Given the description of an element on the screen output the (x, y) to click on. 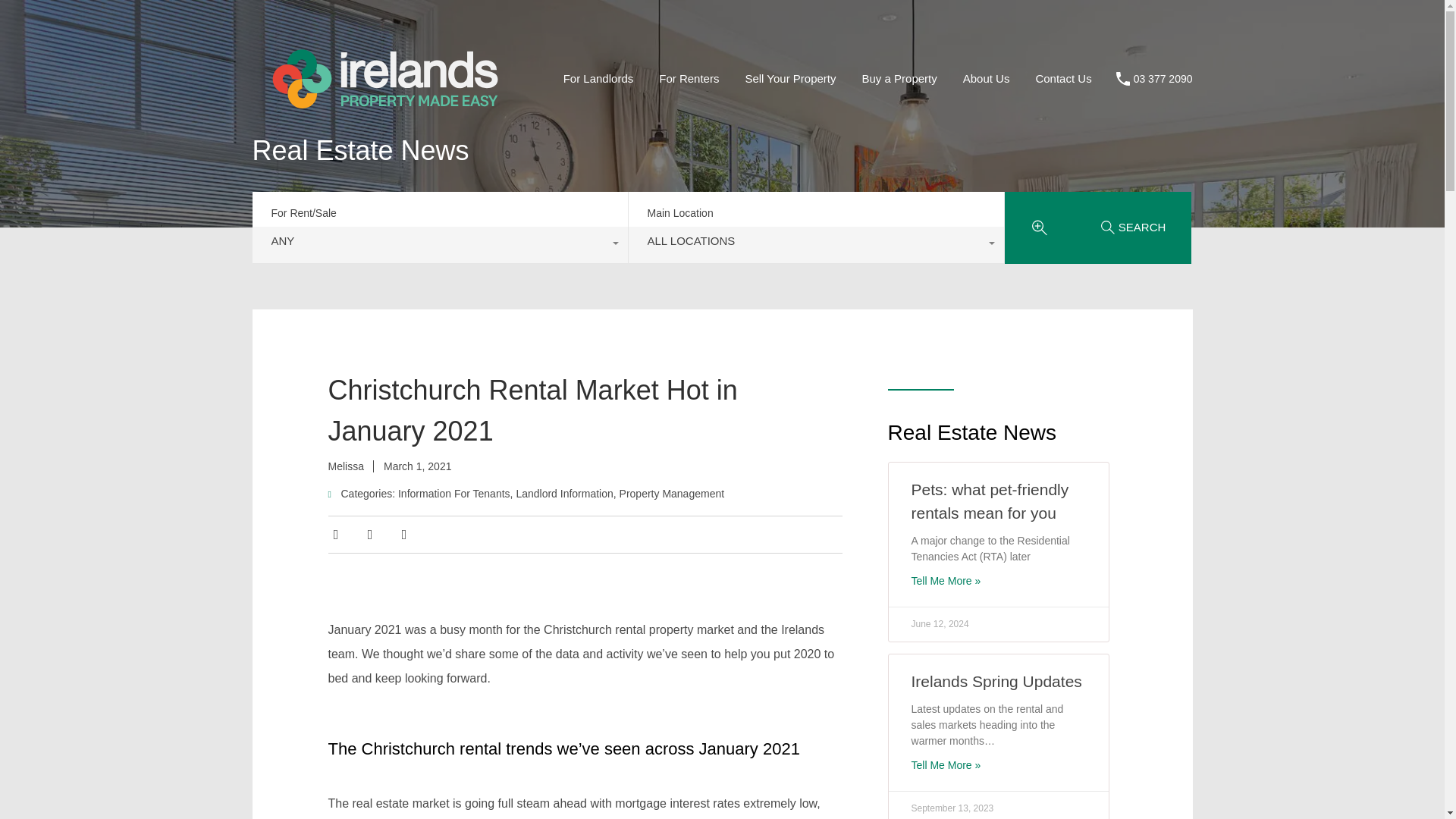
Any (439, 244)
All Locations (815, 244)
Irelands (383, 134)
